Given the description of an element on the screen output the (x, y) to click on. 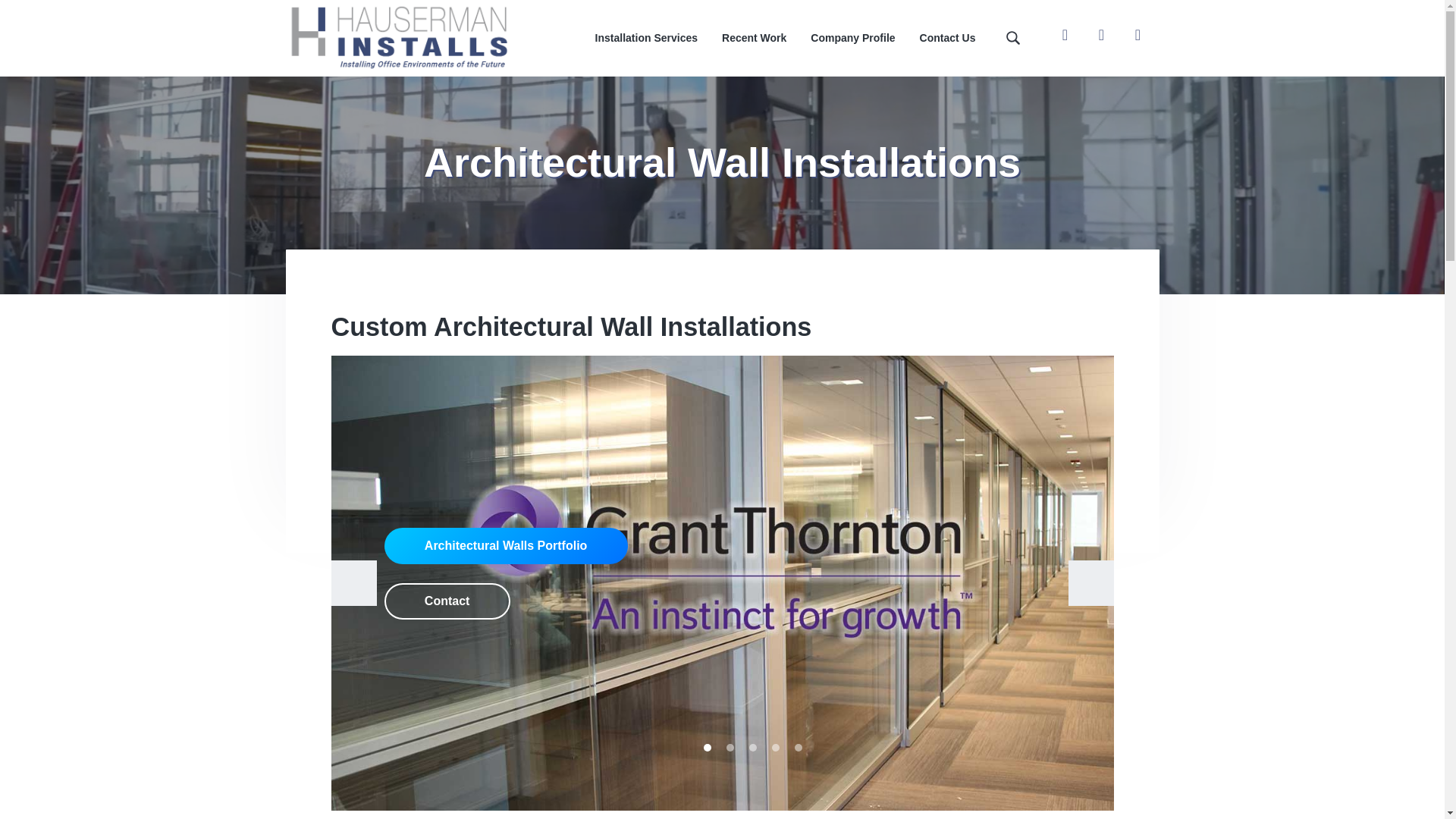
LinkedIn (1137, 34)
Next (1090, 583)
1 (707, 747)
Installation Services (646, 37)
Facebook (1064, 34)
Previous (352, 583)
Search (60, 18)
Contact (446, 601)
Instagram (1101, 34)
Recent Work (754, 37)
Contact Us (947, 37)
Architectural Walls Portfolio (505, 545)
2 (729, 747)
Company Profile (852, 37)
